Given the description of an element on the screen output the (x, y) to click on. 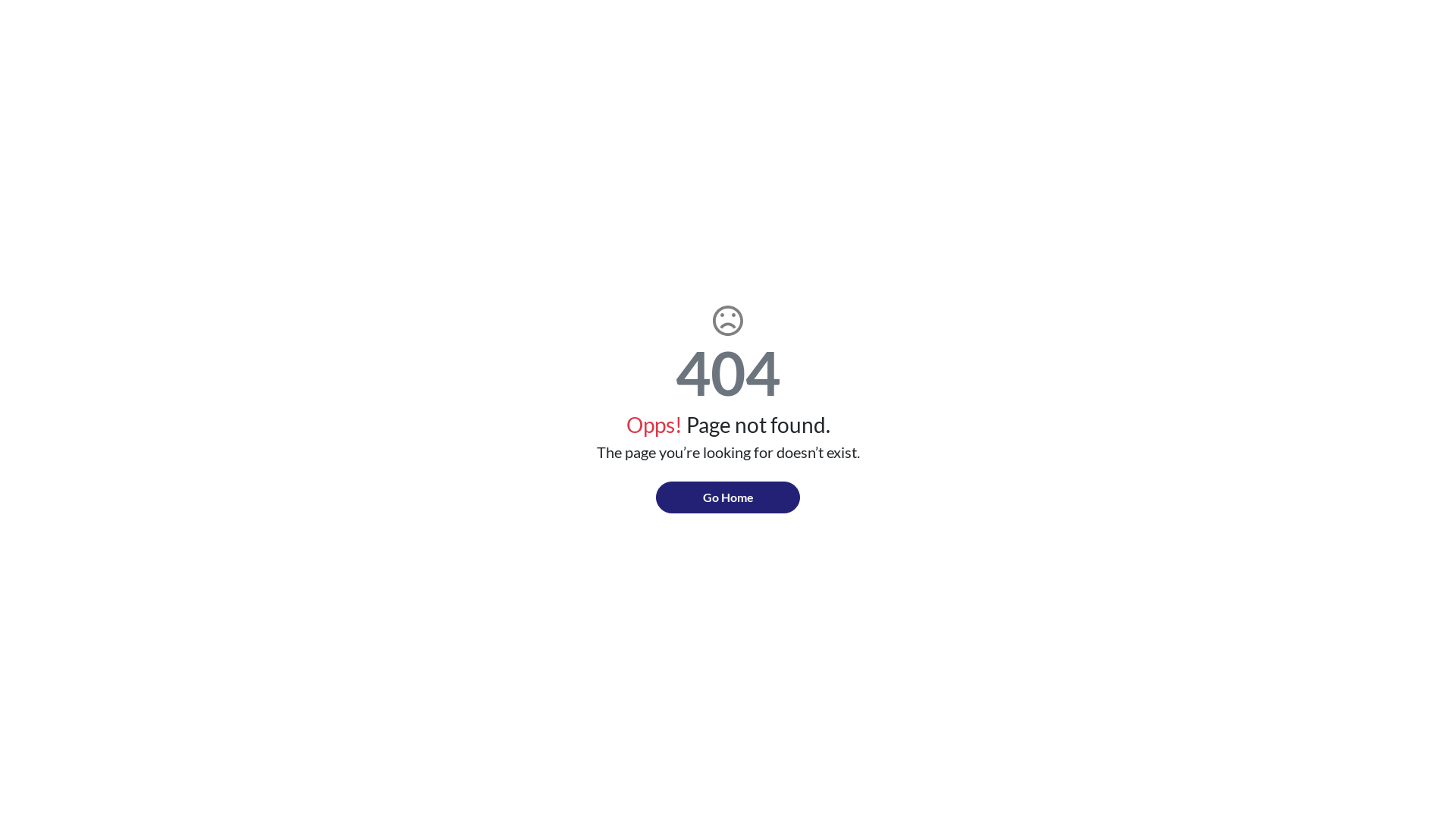
Go Home Element type: text (727, 496)
Go Home Element type: text (727, 497)
